Given the description of an element on the screen output the (x, y) to click on. 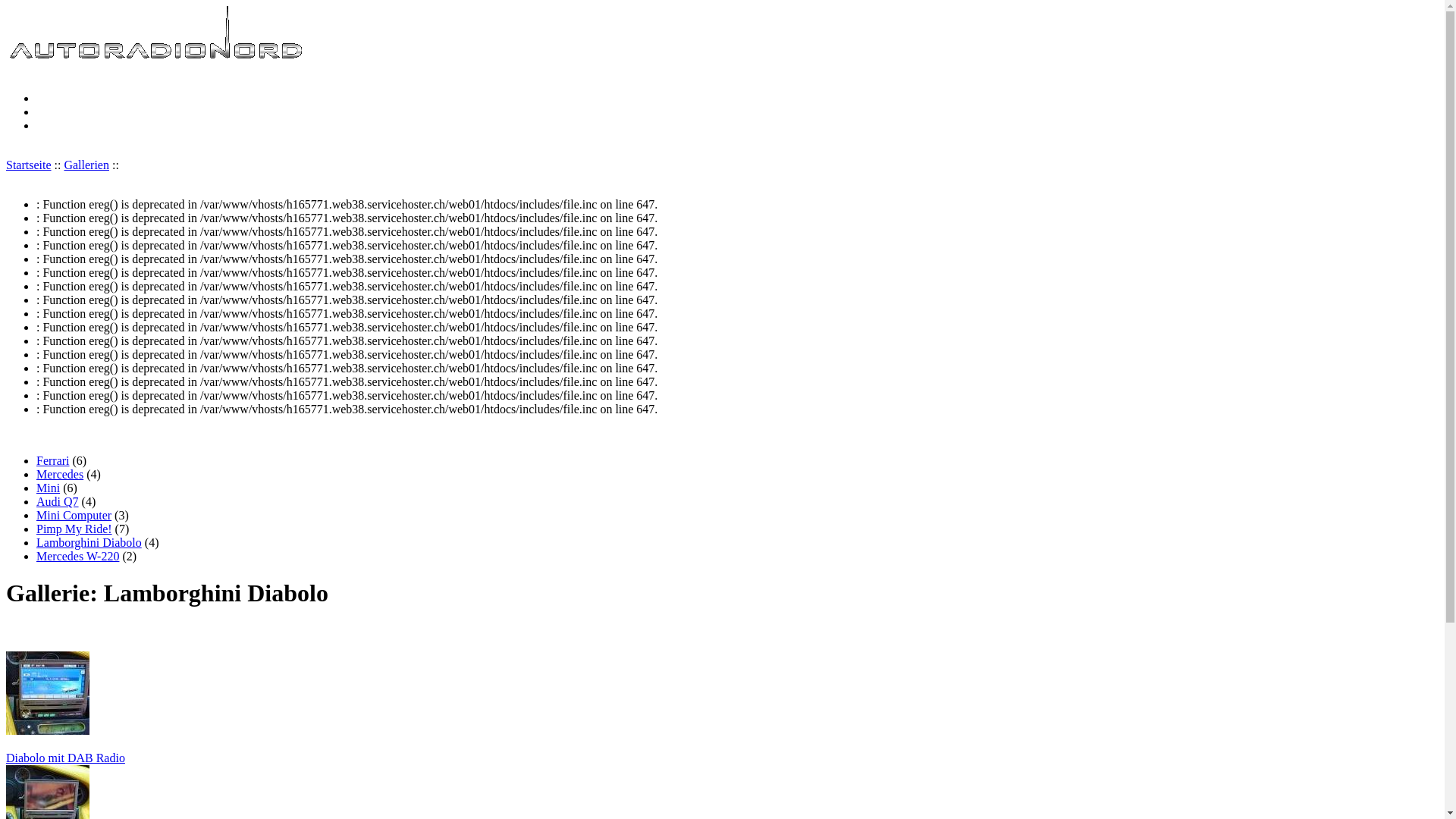
Pimp My Ride! Element type: text (74, 528)
Lamborghini Diabolo Element type: text (88, 542)
Startseite Element type: text (28, 164)
Mercedes Element type: text (59, 473)
Gallerien Element type: text (86, 164)
Ferrari Element type: text (52, 460)
Mercedes W-220 Element type: text (77, 555)
Mini Element type: text (47, 487)
Audi Q7 Element type: text (57, 501)
Startseite Element type: hover (157, 58)
Diabolo mit DAB Radio Element type: text (722, 707)
Mini Computer Element type: text (73, 514)
